Given the description of an element on the screen output the (x, y) to click on. 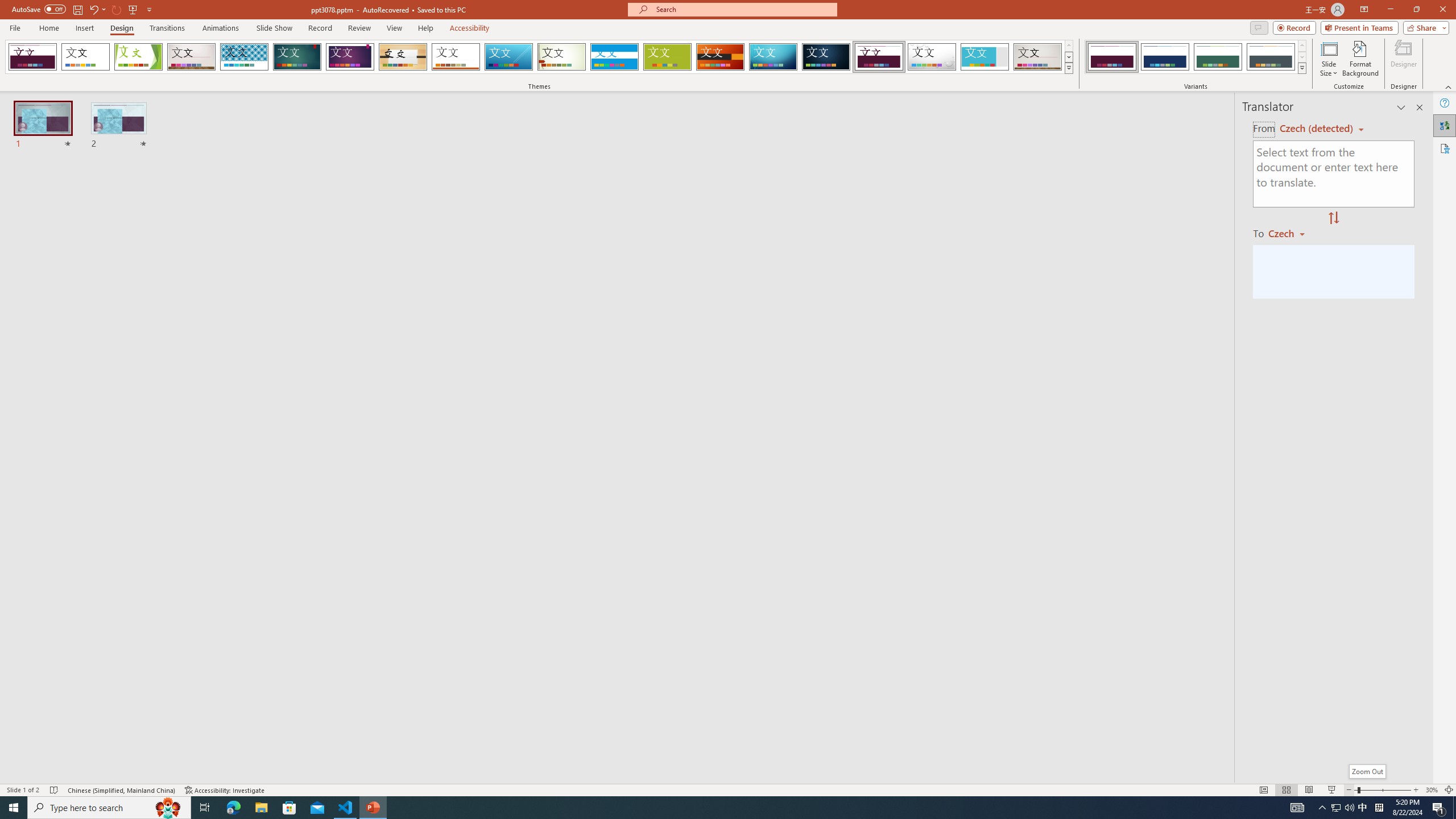
Circuit (772, 56)
Retrospect (455, 56)
AutomationID: SlideThemesGallery (539, 56)
Dividend Variant 3 (1217, 56)
